Given the description of an element on the screen output the (x, y) to click on. 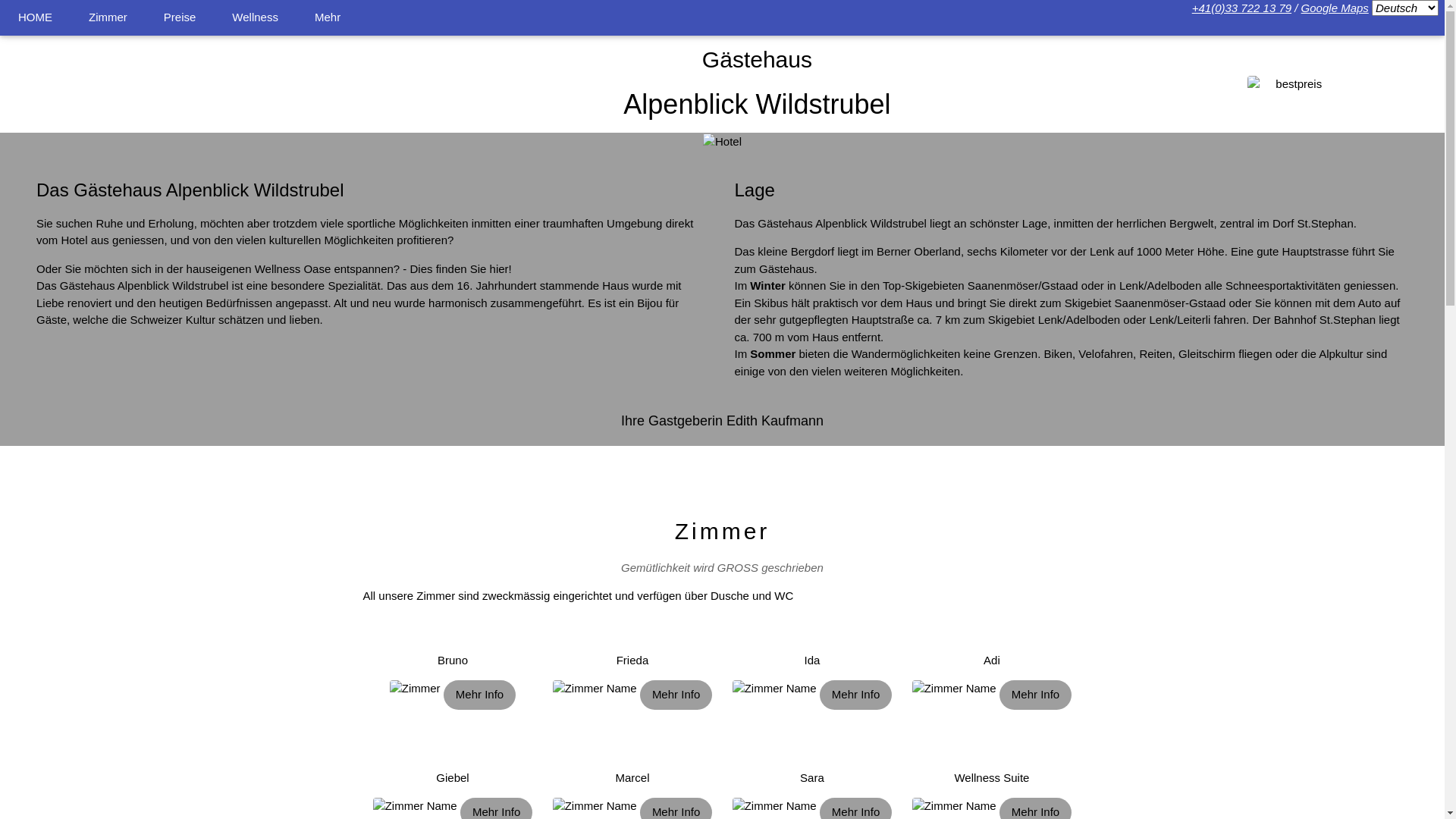
Mehr Info Element type: text (855, 694)
Mehr Info Element type: text (676, 694)
Mehr Info Element type: text (1035, 694)
Mehr Info Element type: text (479, 694)
HOME Element type: text (35, 17)
Wellness Element type: text (254, 17)
Google Maps Element type: text (1334, 7)
Zimmer Element type: text (107, 17)
+41(0)33 722 13 79 Element type: text (1241, 7)
Preise Element type: text (179, 17)
Mehr Element type: text (327, 17)
